Given the description of an element on the screen output the (x, y) to click on. 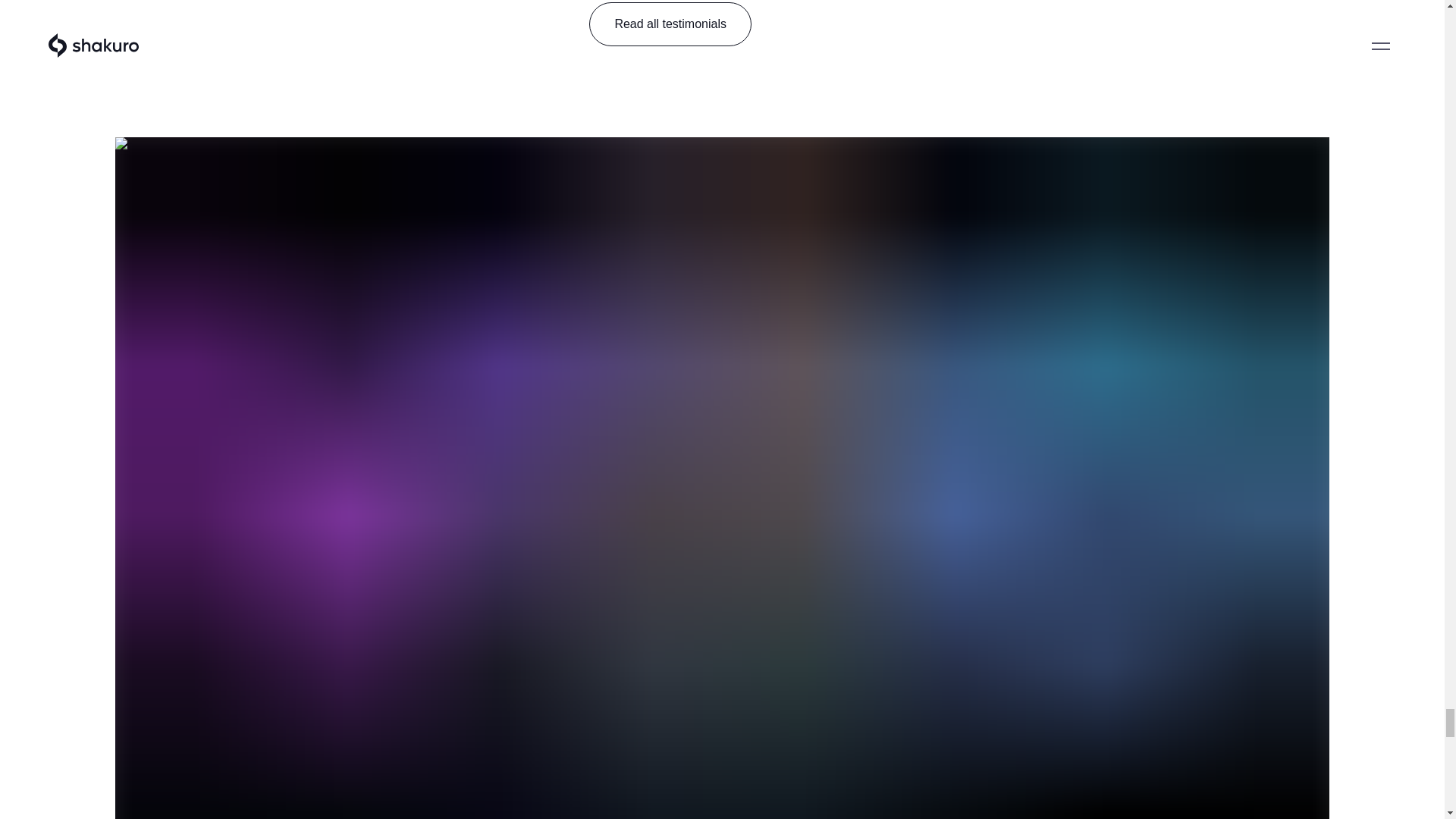
Read all testimonials (670, 23)
